Given the description of an element on the screen output the (x, y) to click on. 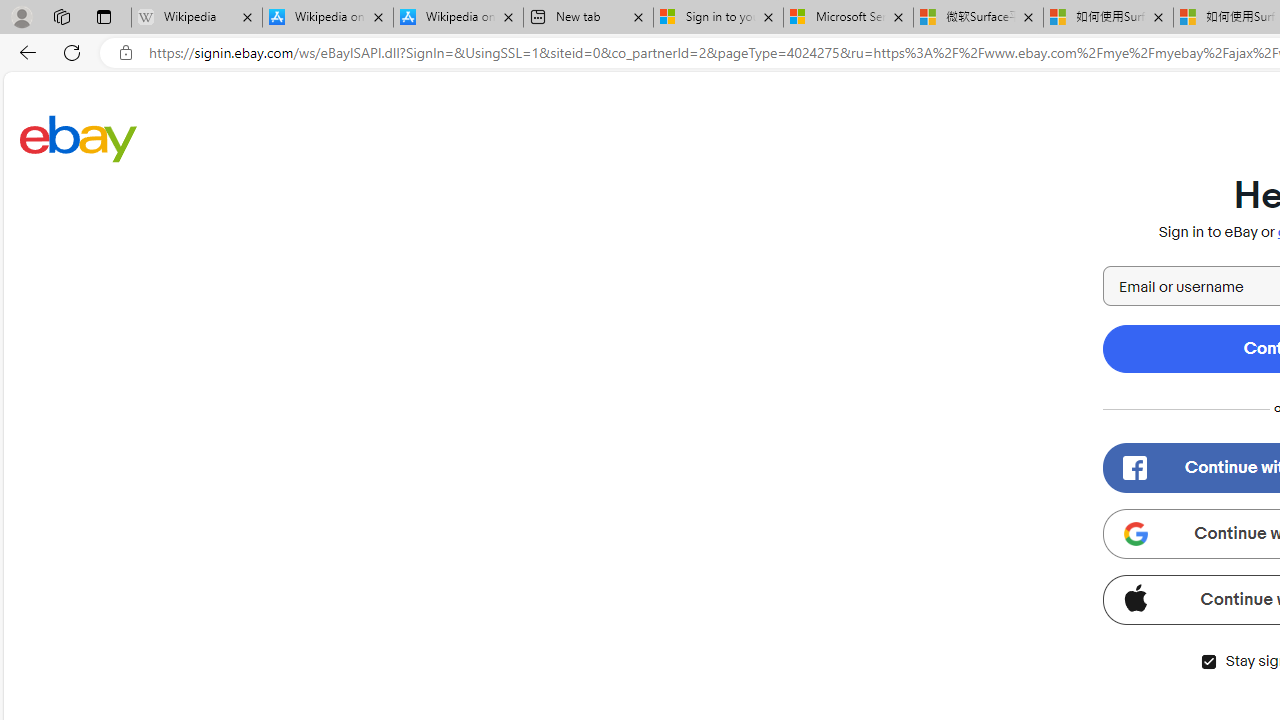
Stay signed in (1208, 661)
eBay Home (78, 138)
eBay Home (78, 138)
